Given the description of an element on the screen output the (x, y) to click on. 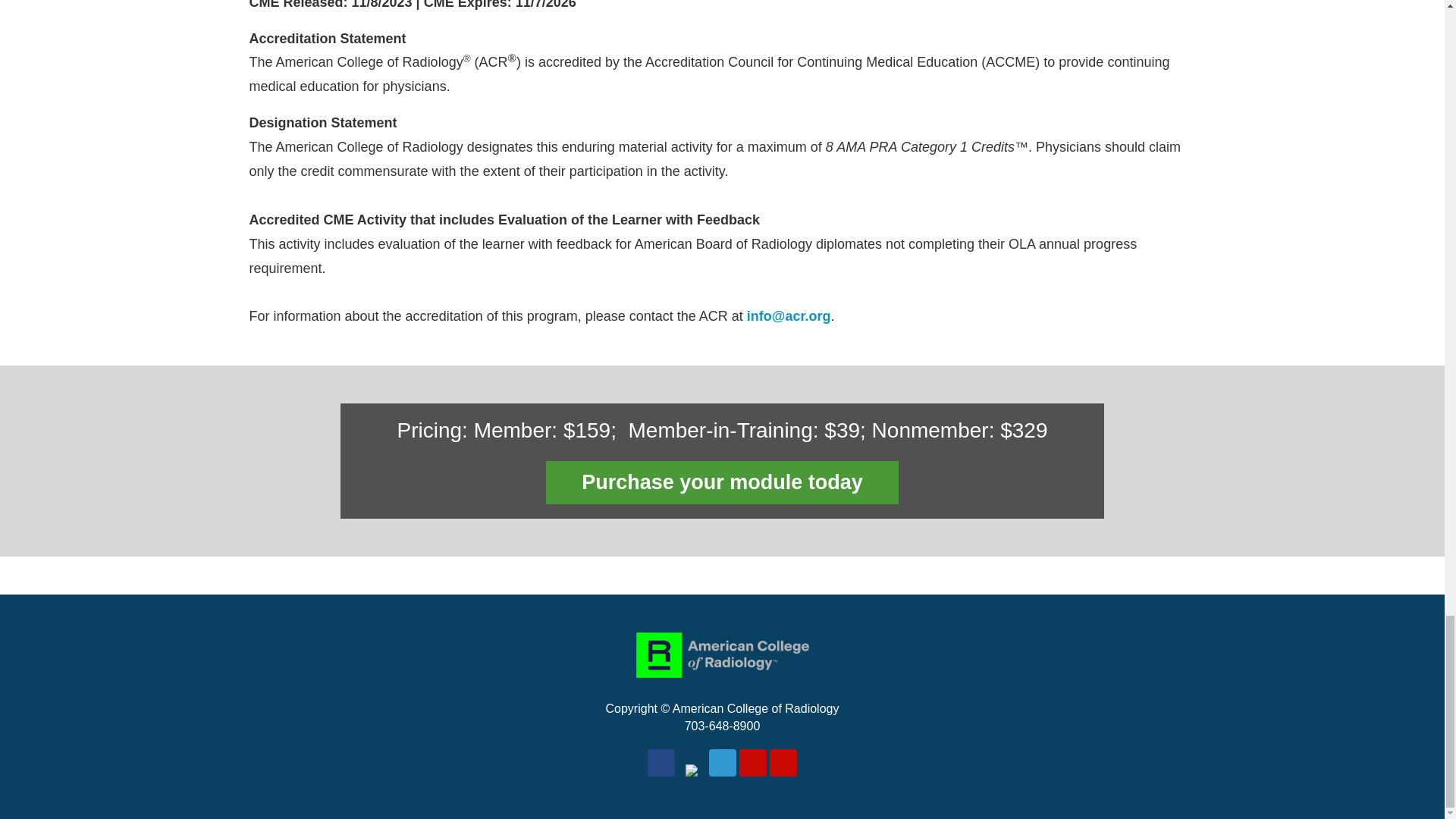
Find Us on Youtube (753, 762)
Find Us on Instagram (783, 762)
Purchase your module today (722, 482)
Find Us on Facebook (661, 762)
Find Us on Twitter (691, 760)
Find Us on Linkedin (721, 762)
